Given the description of an element on the screen output the (x, y) to click on. 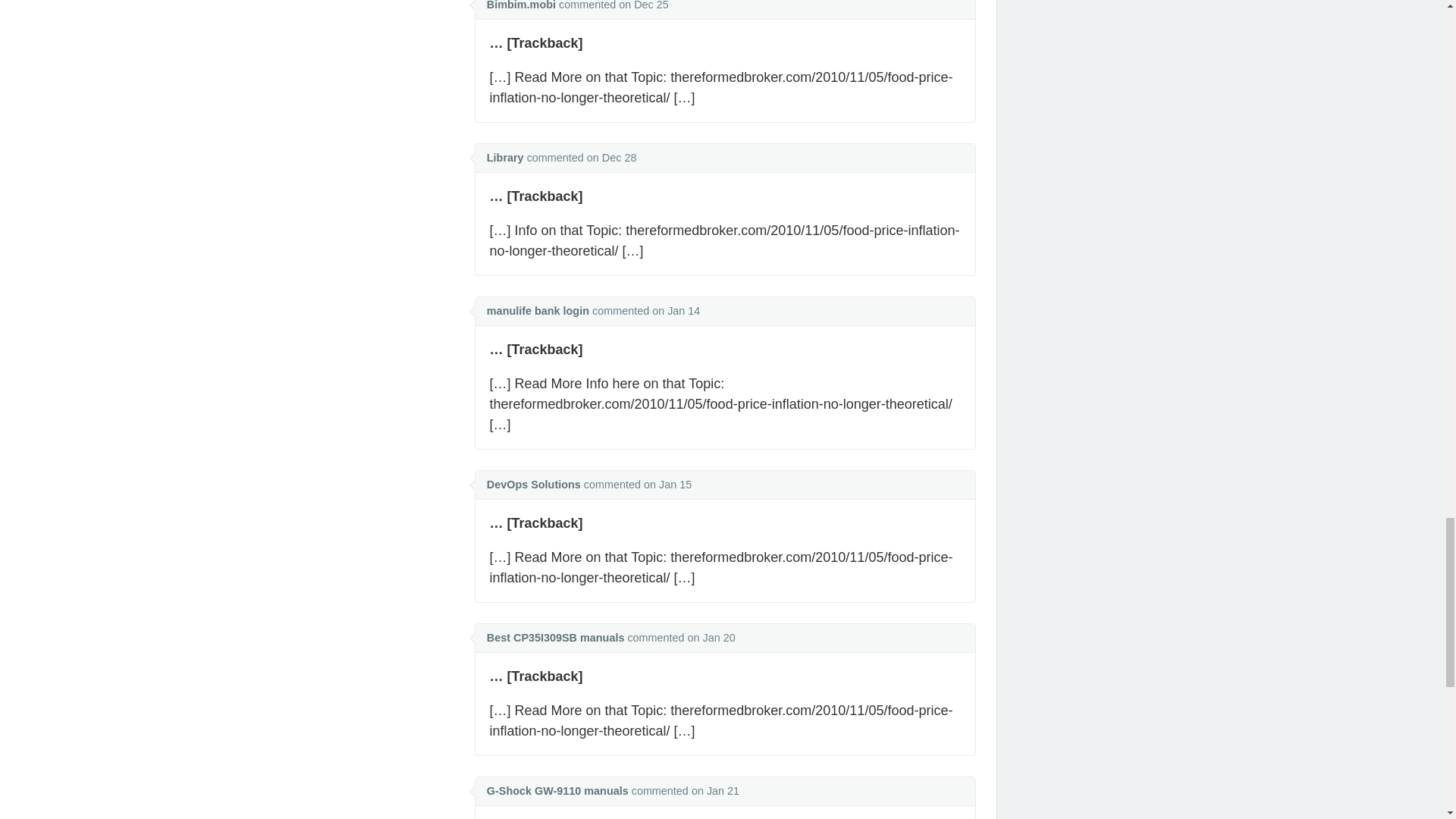
DevOps Solutions (533, 484)
manulife bank login (537, 310)
Best CP35I309SB manuals (555, 637)
G-Shock GW-9110 manuals (557, 790)
Library (505, 157)
Bimbim.mobi (521, 5)
